Given the description of an element on the screen output the (x, y) to click on. 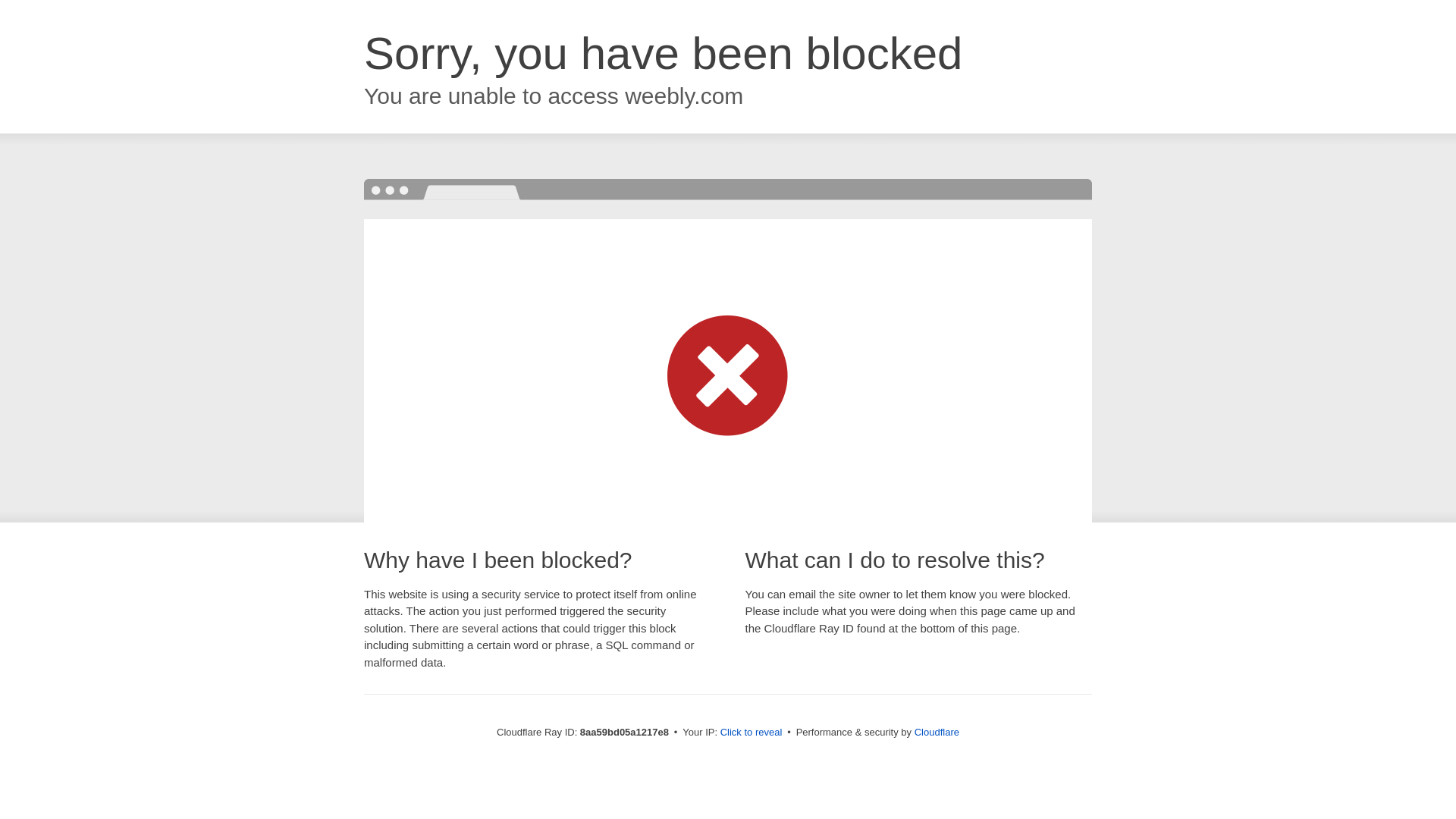
Click to reveal (751, 732)
Cloudflare (936, 731)
